Given the description of an element on the screen output the (x, y) to click on. 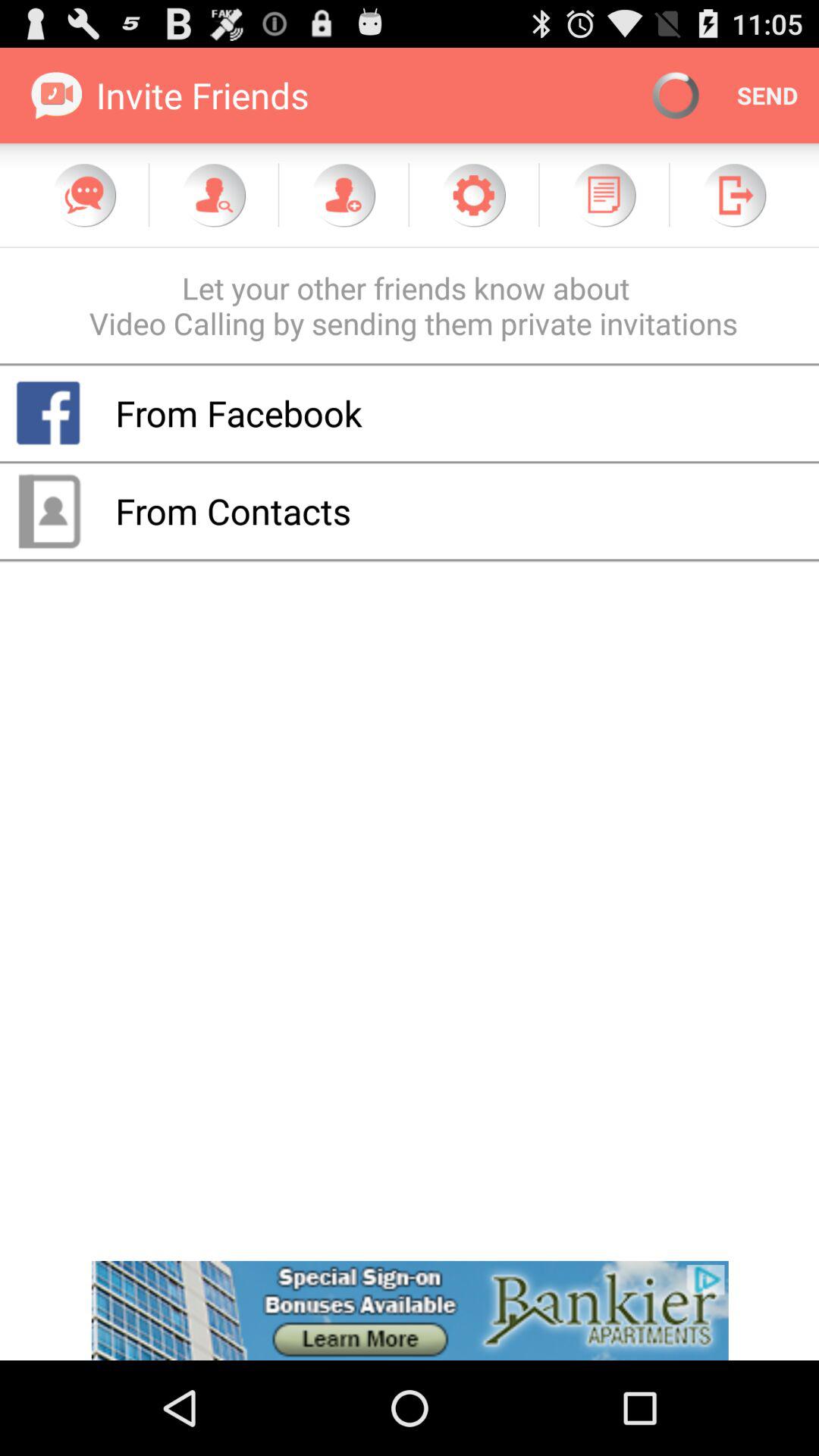
click to the messages (84, 194)
